Given the description of an element on the screen output the (x, y) to click on. 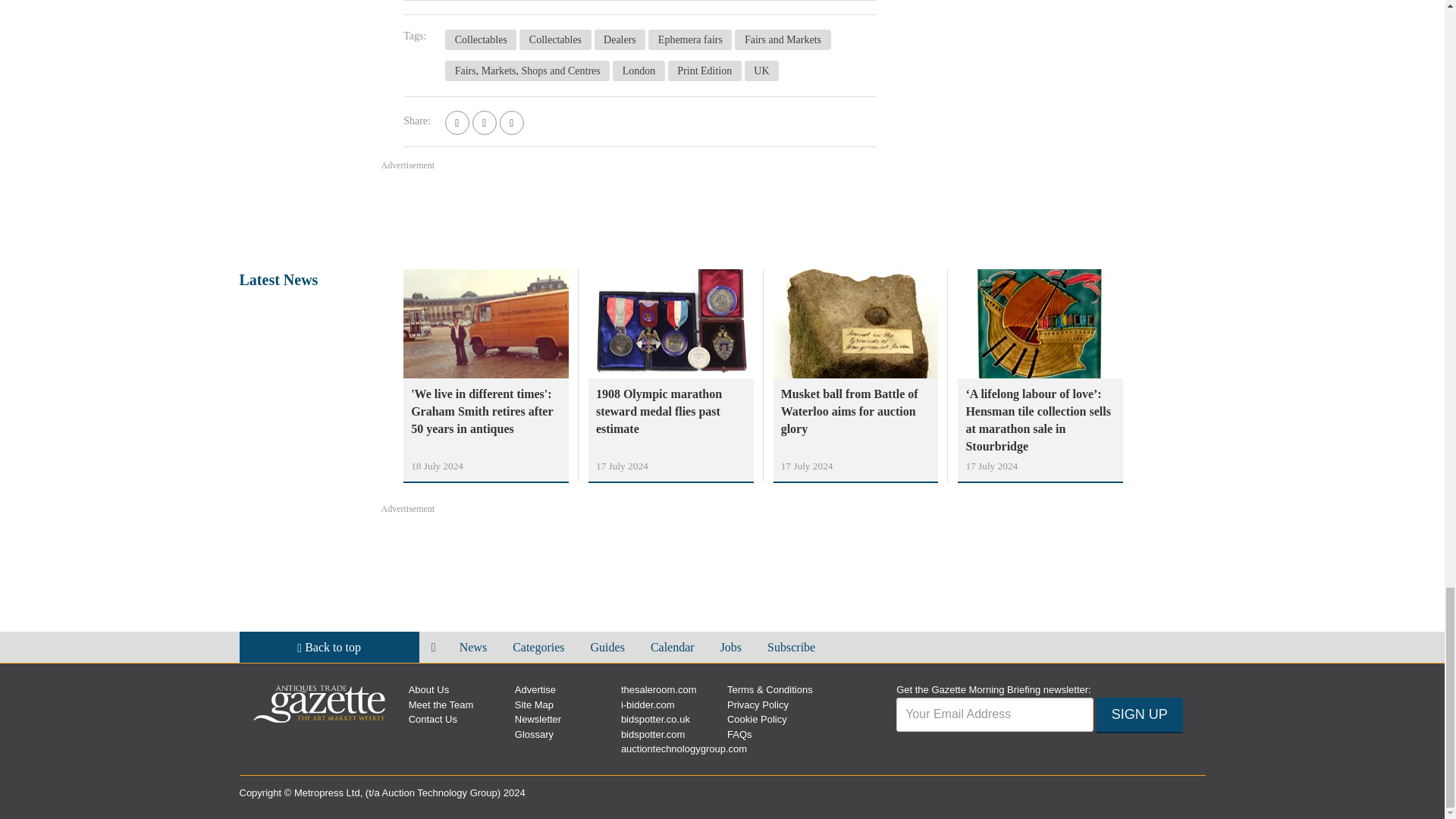
1908 Olympic marathon steward medal flies past estimate (671, 411)
3rd party ad content (721, 214)
